Given the description of an element on the screen output the (x, y) to click on. 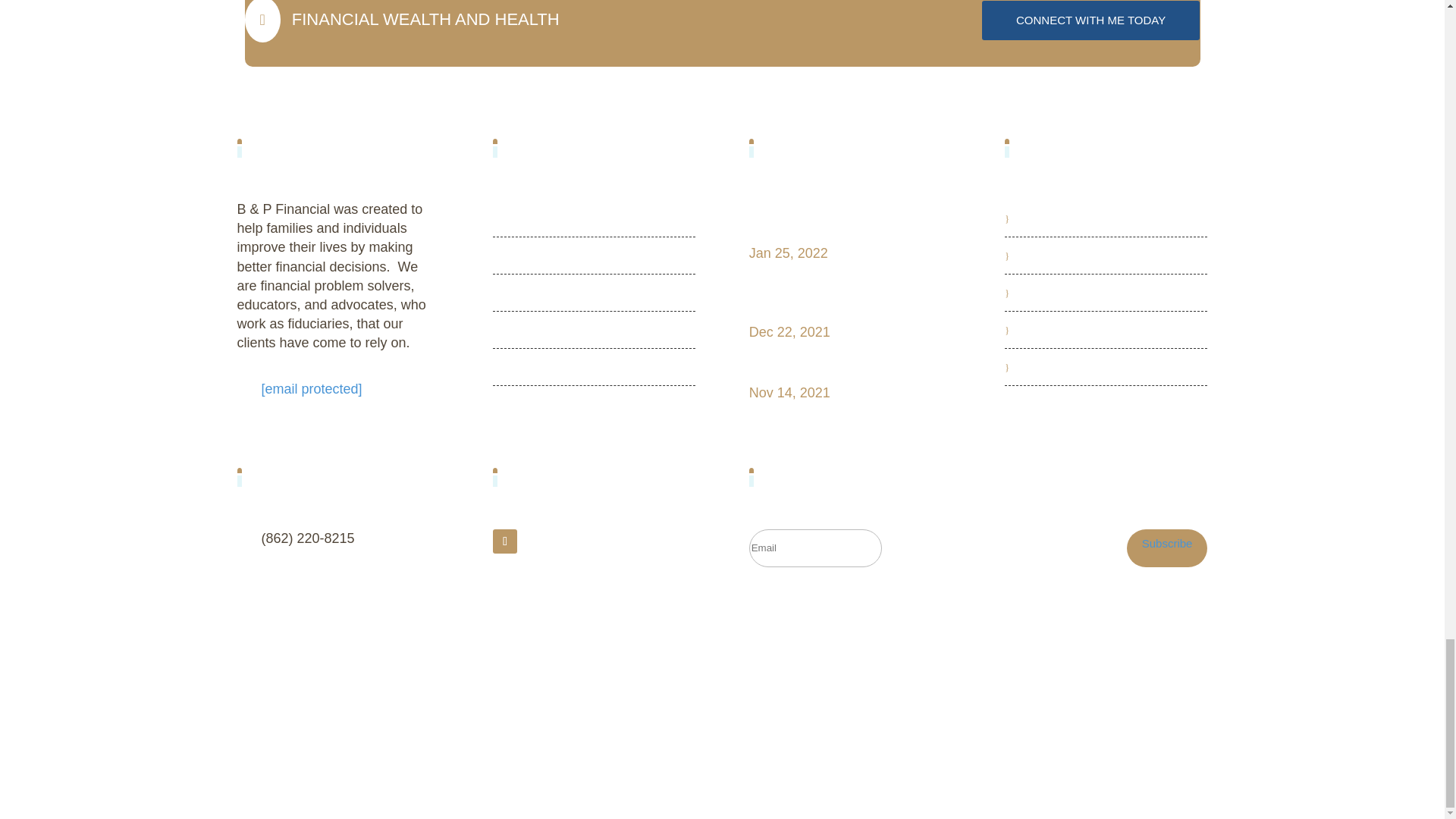
What Is A Fiduciary Financial Advisor? (845, 366)
Follow on Facebook (1030, 218)
Tax Strategy In Retirement: 10 Tips To Save On Taxes (504, 541)
CONTACT (845, 217)
SERVICES (1039, 293)
The Benefits Of Hiring A Financial Investment Advisor (523, 367)
FAQS (1031, 255)
BLOG (524, 255)
ABOUT (833, 296)
CONNECT WITH ME TODAY (512, 292)
